Given the description of an element on the screen output the (x, y) to click on. 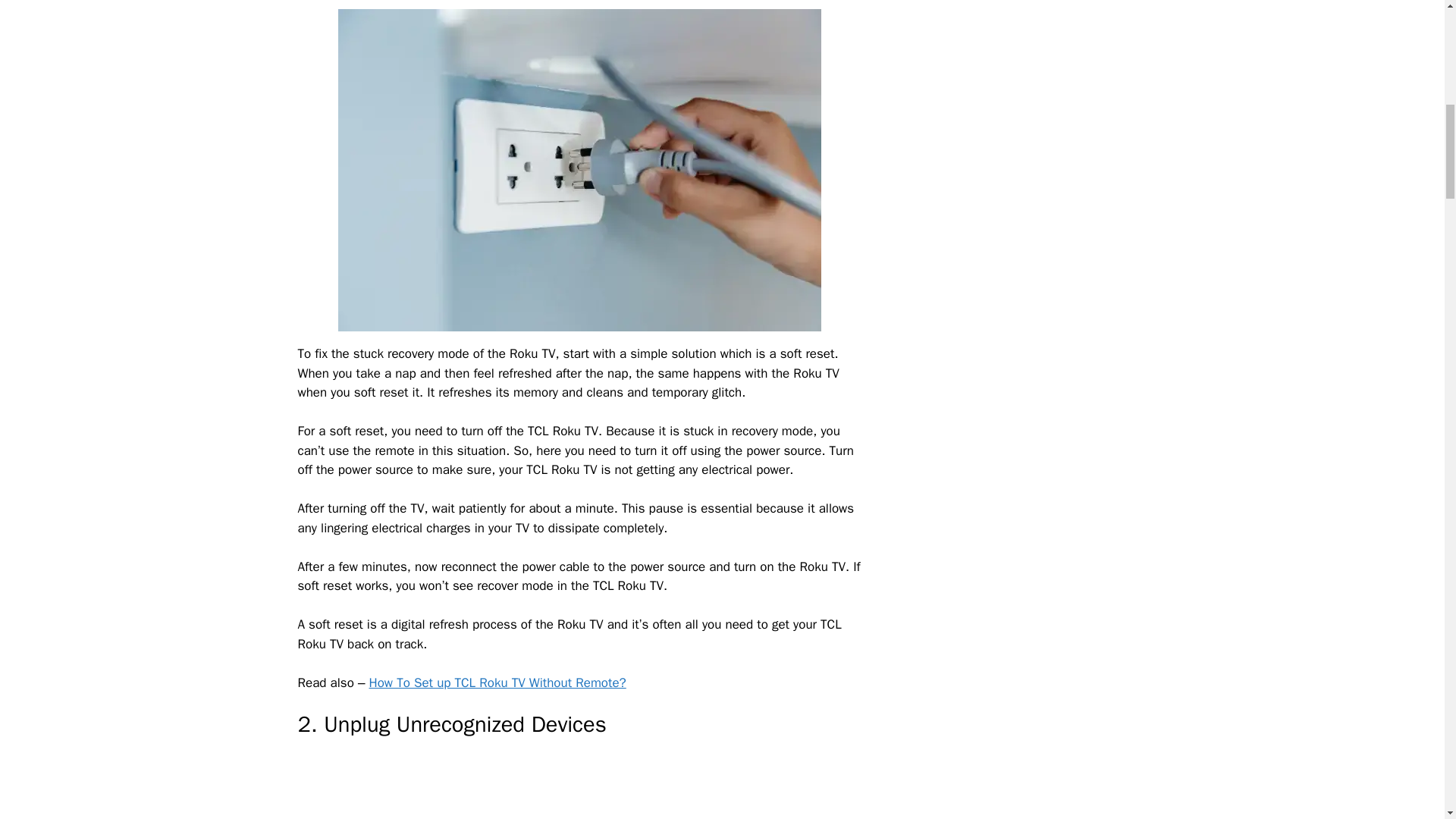
Scroll back to top (1406, 720)
How To Set up TCL Roku TV Without Remote? (497, 682)
